Given the description of an element on the screen output the (x, y) to click on. 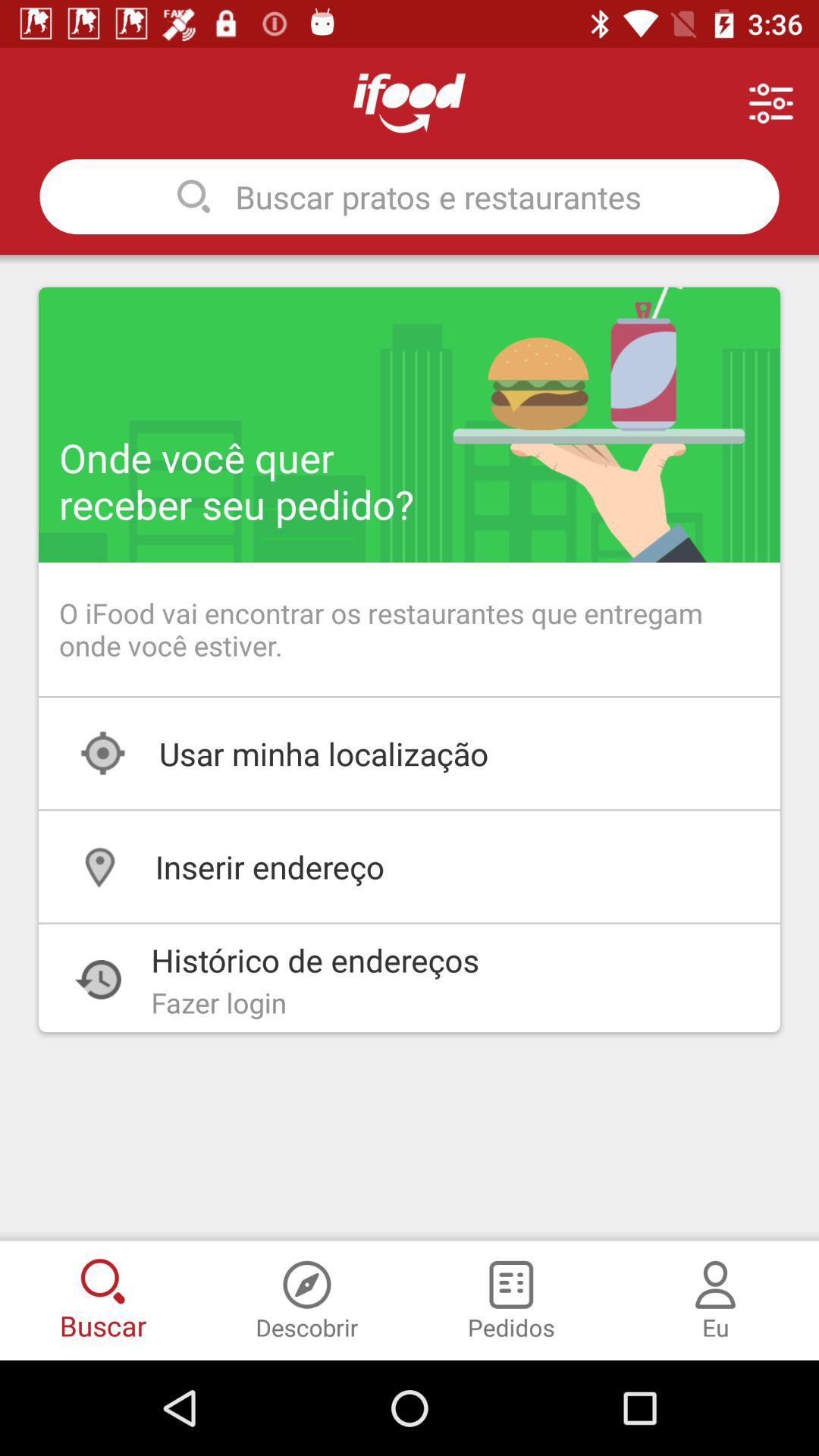
press item at the top right corner (771, 103)
